Given the description of an element on the screen output the (x, y) to click on. 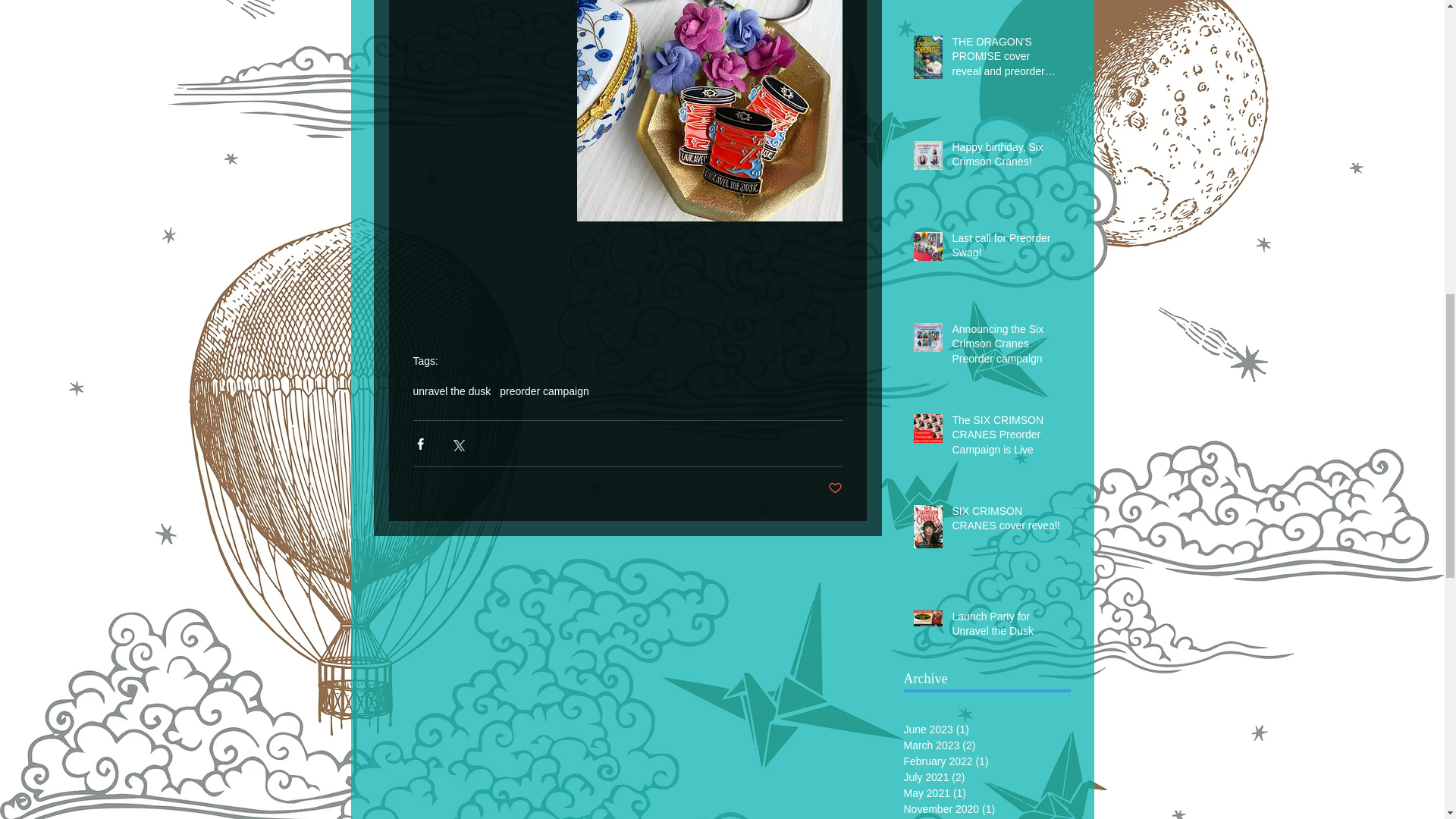
Last call for Preorder Swag! (1006, 248)
Launch Party for Unravel the Dusk (1006, 627)
preorder campaign (544, 390)
THE DRAGON'S PROMISE cover reveal and preorder campaign! (1006, 60)
unravel the dusk (451, 390)
SIX CRIMSON CRANES cover reveal! (1006, 521)
Announcing the Six Crimson Cranes Preorder campaign (1006, 347)
Happy birthday, Six Crimson Cranes! (1006, 158)
The SIX CRIMSON CRANES Preorder Campaign is Live (1006, 438)
Post not marked as liked (835, 488)
